Given the description of an element on the screen output the (x, y) to click on. 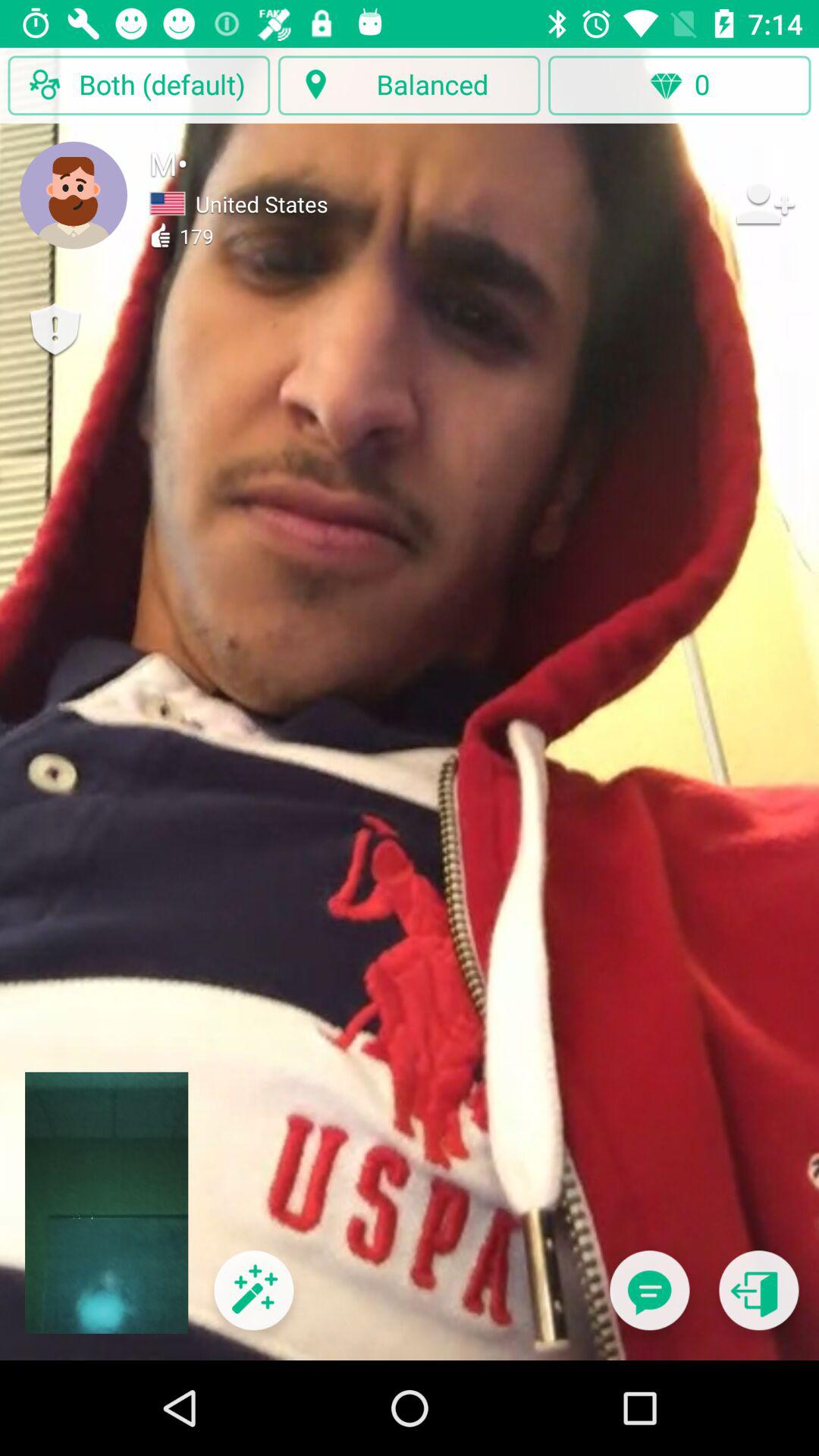
sair do bate-papo (758, 1300)
